Given the description of an element on the screen output the (x, y) to click on. 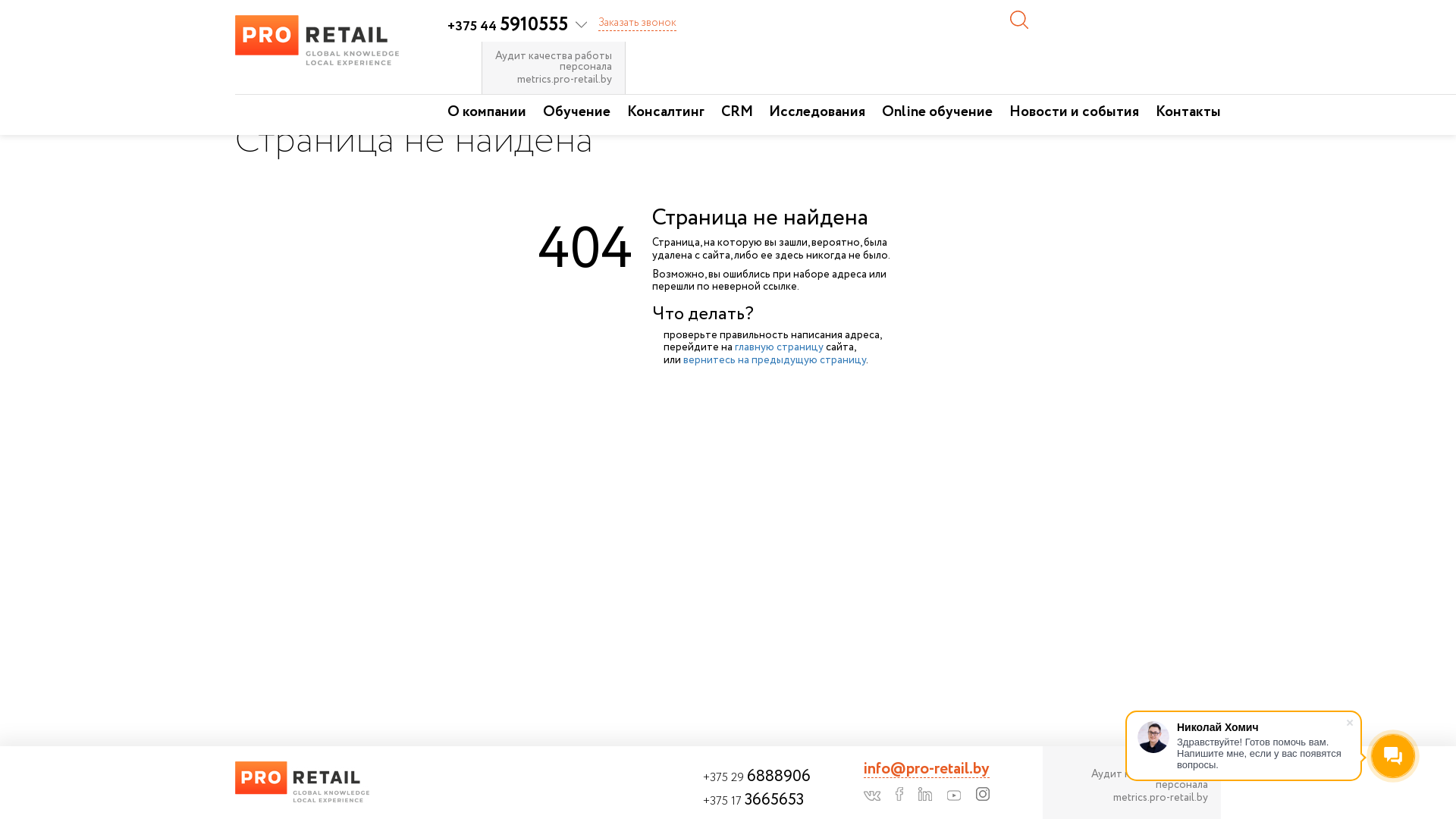
CRM Element type: text (737, 114)
info@pro-retail.by Element type: text (926, 769)
+375 44 5910555 Element type: text (516, 26)
metrics.pro-retail.by Element type: text (1131, 797)
metrics.pro-retail.by Element type: text (553, 79)
